Given the description of an element on the screen output the (x, y) to click on. 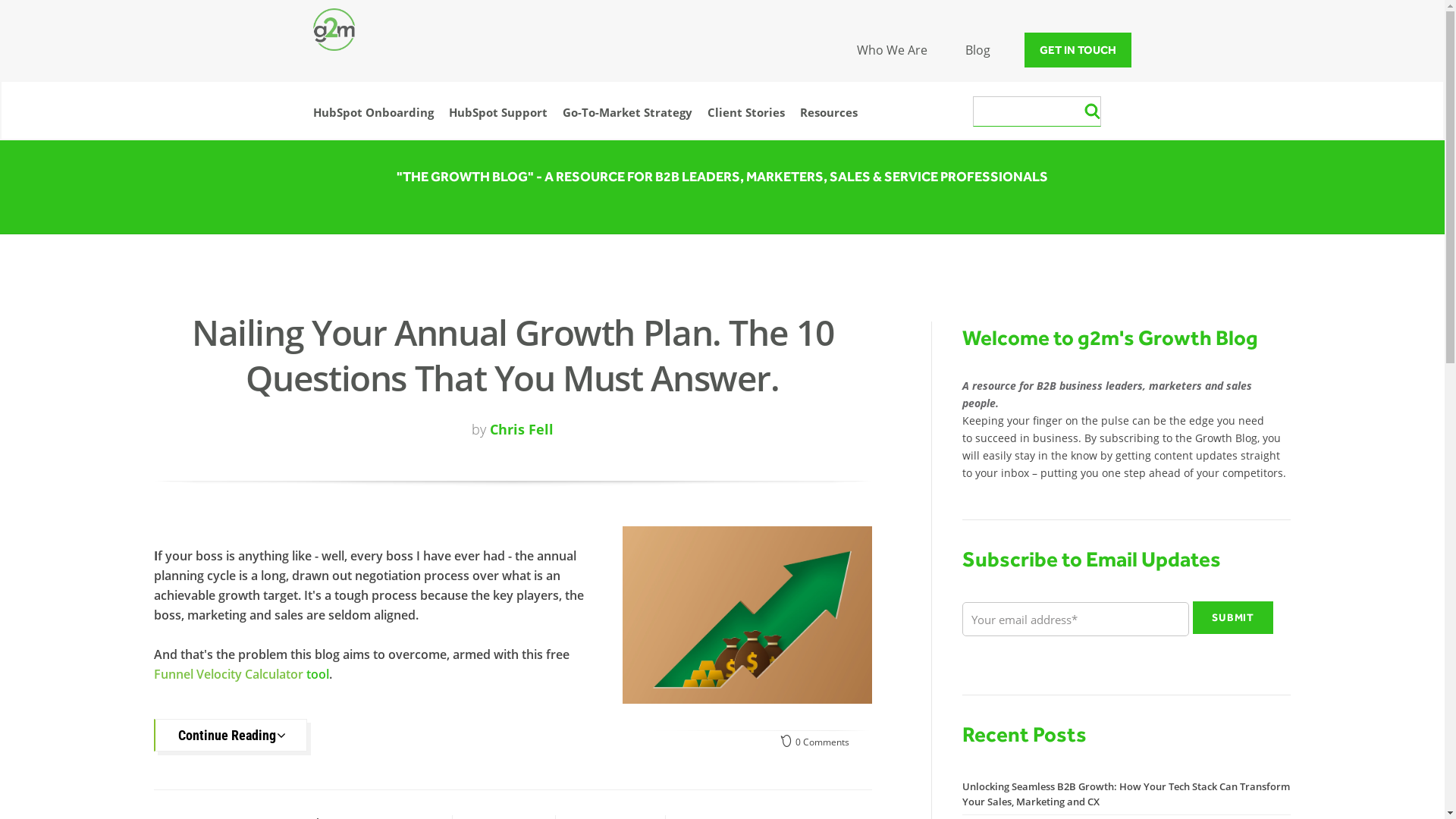
Go-To-Market Strategy Element type: text (627, 115)
HubSpot Support Element type: text (497, 115)
Who We Are Element type: text (891, 49)
Resources Element type: text (827, 115)
Blog Element type: text (977, 49)
g2m solutions Element type: hover (333, 29)
0 Comments Element type: text (815, 741)
Client Stories Element type: text (745, 115)
Submit Element type: text (1232, 617)
HubSpot Onboarding Element type: text (372, 115)
Chris Fell Element type: text (521, 429)
GET IN TOUCH Element type: text (1077, 49)
unnel Velocity Calculator tool Element type: text (244, 673)
Continue Reading Element type: text (229, 735)
